Given the description of an element on the screen output the (x, y) to click on. 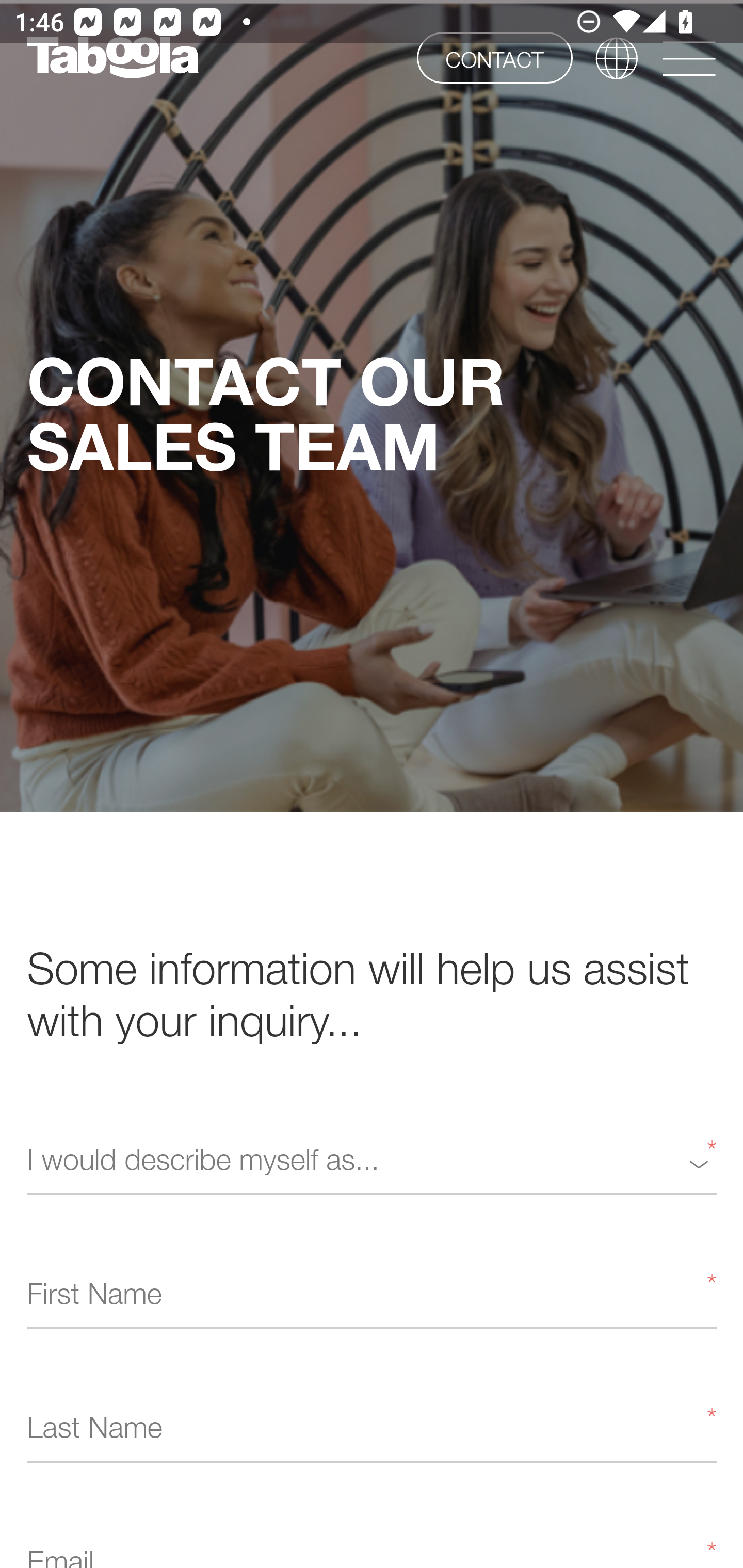
CONTACT (494, 56)
www.taboola (112, 57)
* I would describe myself as... (371, 1163)
